Given the description of an element on the screen output the (x, y) to click on. 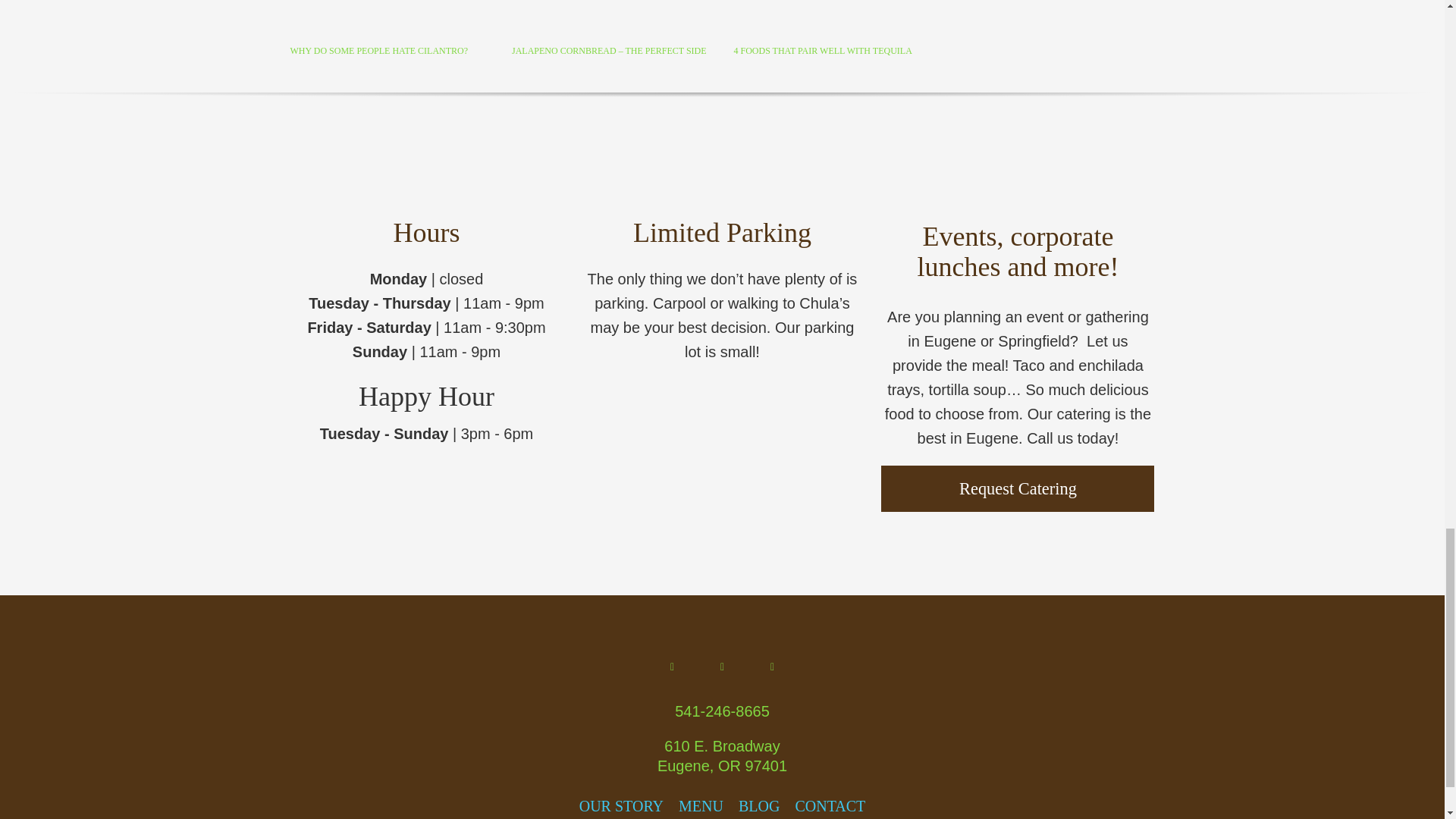
OUR STORYMENUBLOGCONTACT (721, 806)
Request Catering (1017, 488)
Instagram (721, 667)
4 FOODS THAT PAIR WELL WITH TEQUILA (822, 50)
541-246-8665 (722, 710)
taya-dianna-vUm1axCwADI-unsplash (611, 18)
Twitter (771, 667)
cilantro (388, 18)
WHY DO SOME PEOPLE HATE CILANTRO? (378, 50)
Request Catering (1017, 488)
